Given the description of an element on the screen output the (x, y) to click on. 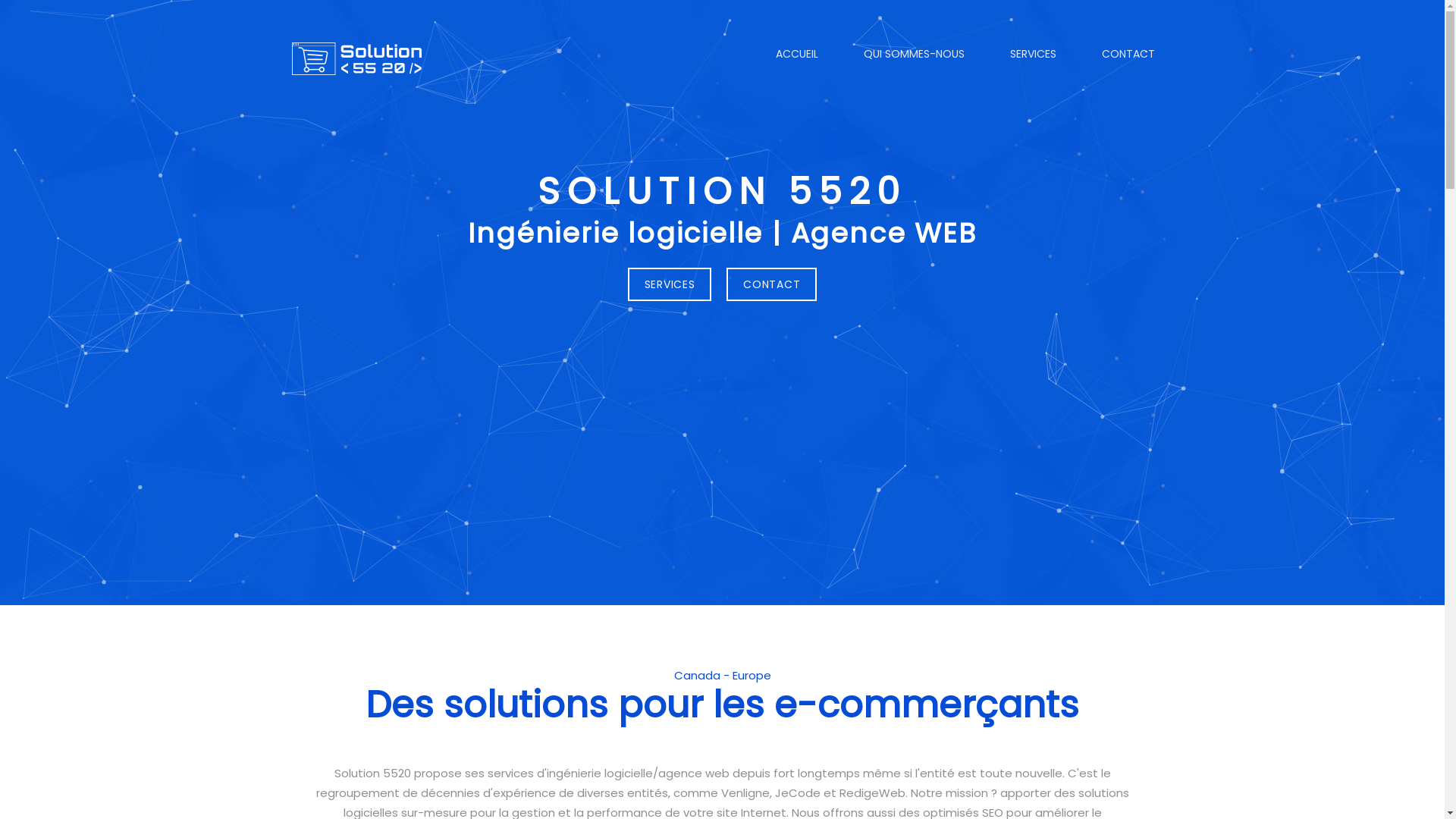
QUI SOMMES-NOUS Element type: text (913, 53)
SERVICES Element type: text (669, 284)
CONTACT Element type: text (1121, 53)
ACCUEIL Element type: text (796, 53)
CONTACT Element type: text (771, 284)
SERVICES Element type: text (1033, 53)
